Given the description of an element on the screen output the (x, y) to click on. 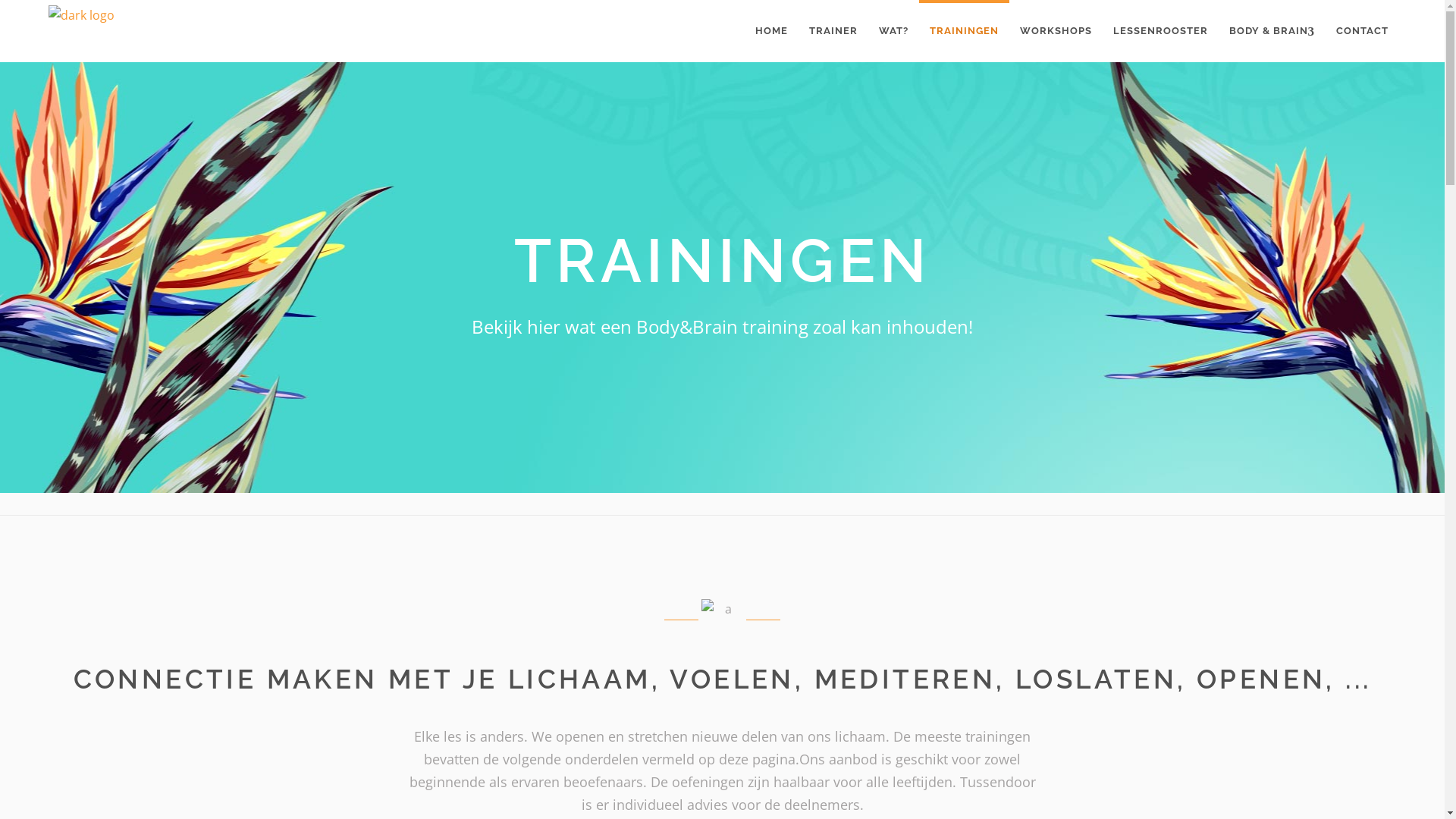
WORKSHOPS Element type: text (1054, 31)
TRAINER Element type: text (832, 31)
LESSENROOSTER Element type: text (1160, 31)
CONTACT Element type: text (1362, 31)
TRAININGEN Element type: text (964, 31)
WAT? Element type: text (892, 31)
BODY & BRAIN Element type: text (1271, 31)
HOME Element type: text (771, 31)
